Given the description of an element on the screen output the (x, y) to click on. 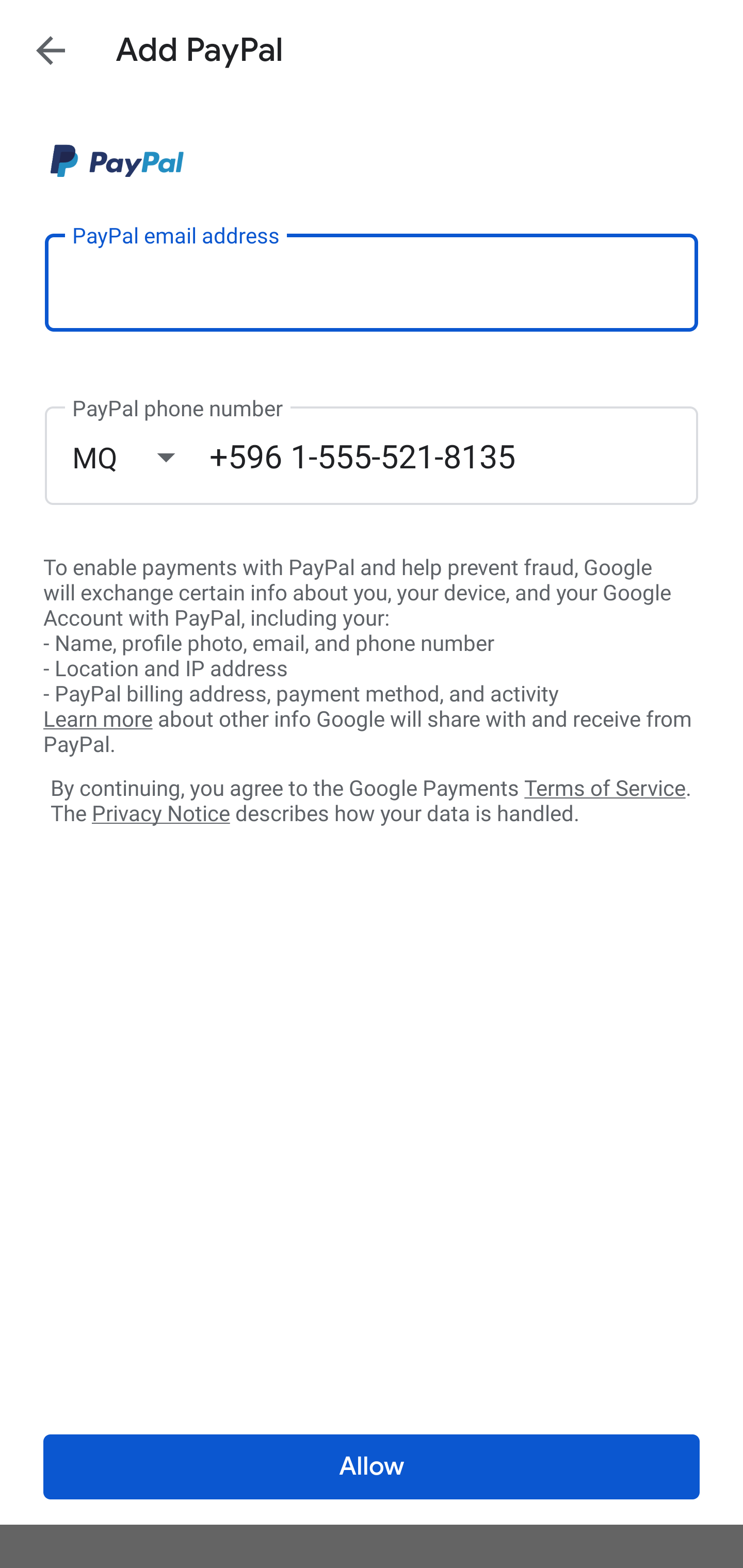
Navigate up (50, 50)
PayPal email address (371, 282)
MQ (140, 456)
Learn more (97, 719)
Terms of Service (604, 787)
Privacy Notice (160, 814)
Allow (371, 1466)
